Given the description of an element on the screen output the (x, y) to click on. 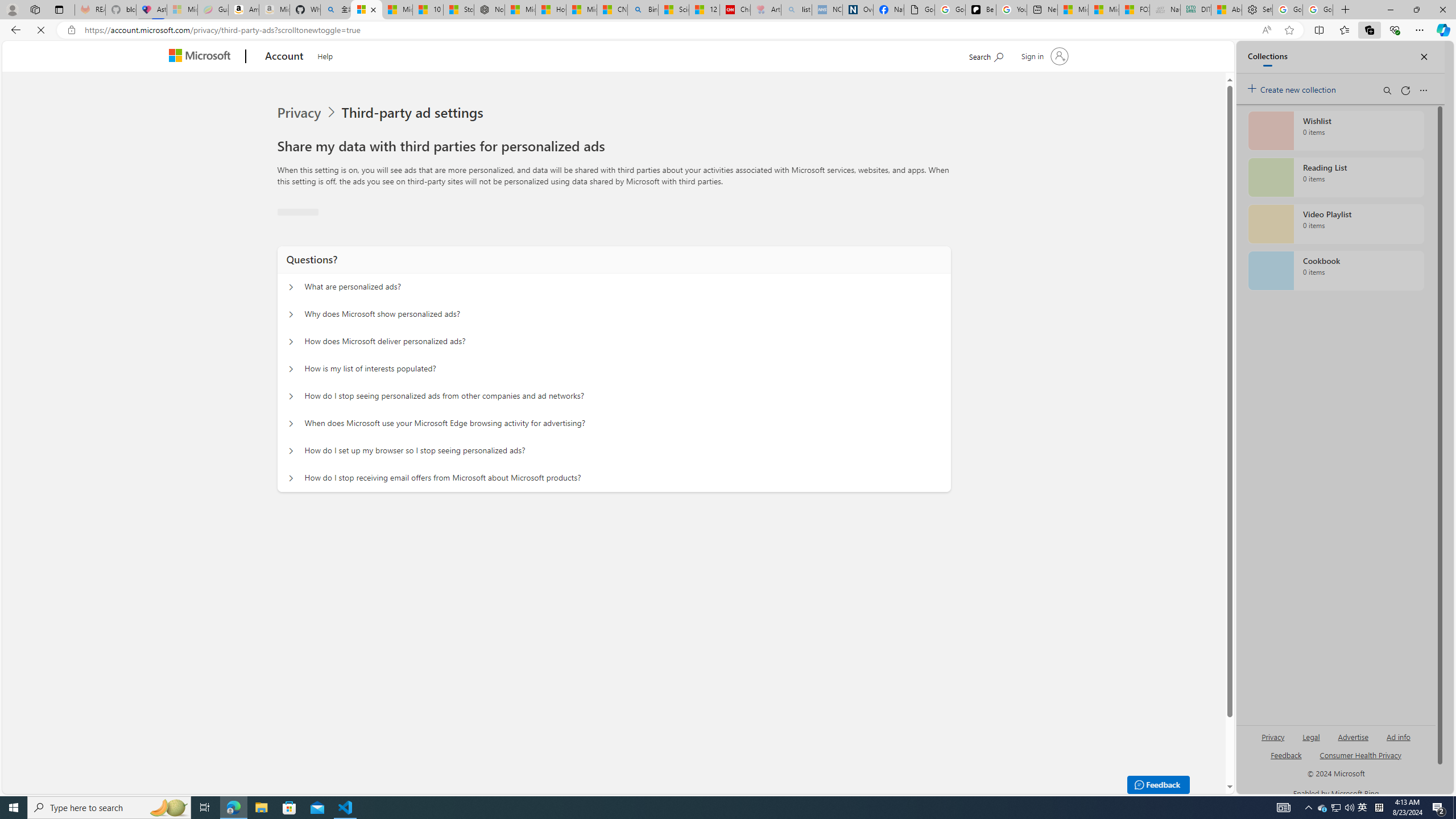
Questions? How is my list of interests populated? (290, 368)
Search Microsoft.com (986, 54)
Questions? How does Microsoft deliver personalized ads? (290, 499)
